Given the description of an element on the screen output the (x, y) to click on. 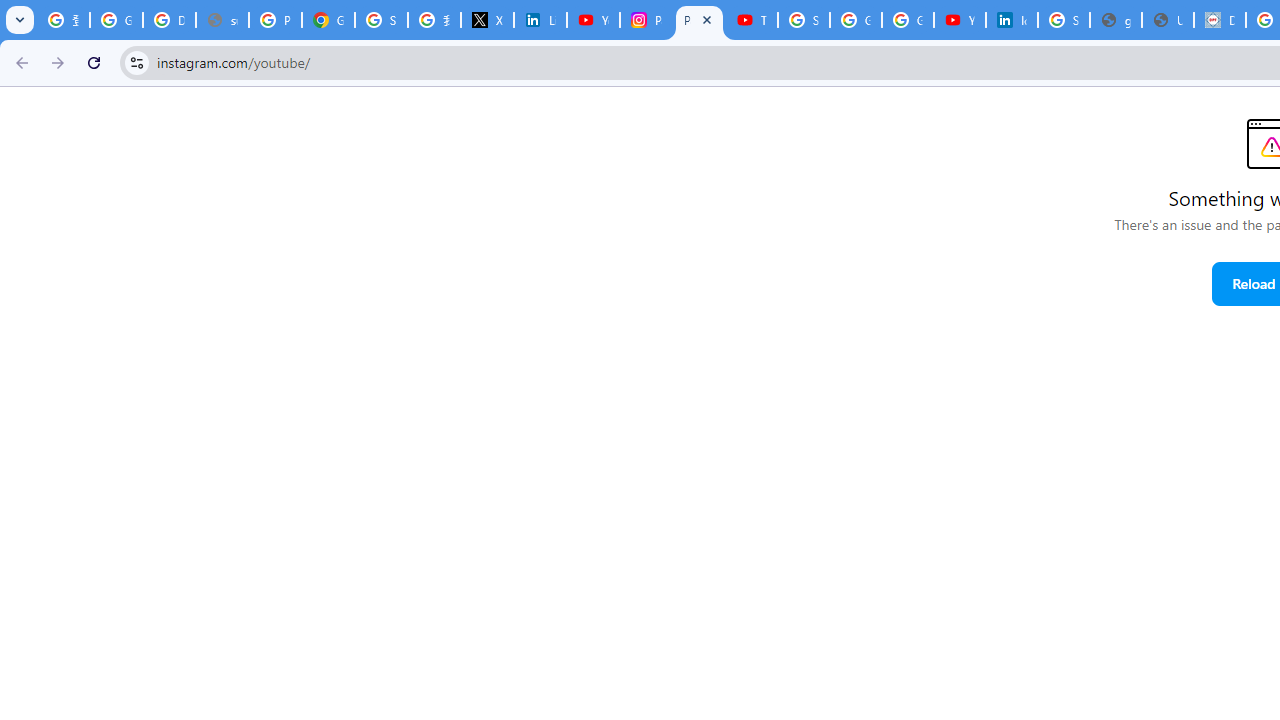
Sign in - Google Accounts (803, 20)
LinkedIn Privacy Policy (540, 20)
Identity verification via Persona | LinkedIn Help (1011, 20)
Sign in - Google Accounts (381, 20)
Privacy Help Center - Policies Help (275, 20)
User Details (1167, 20)
